Given the description of an element on the screen output the (x, y) to click on. 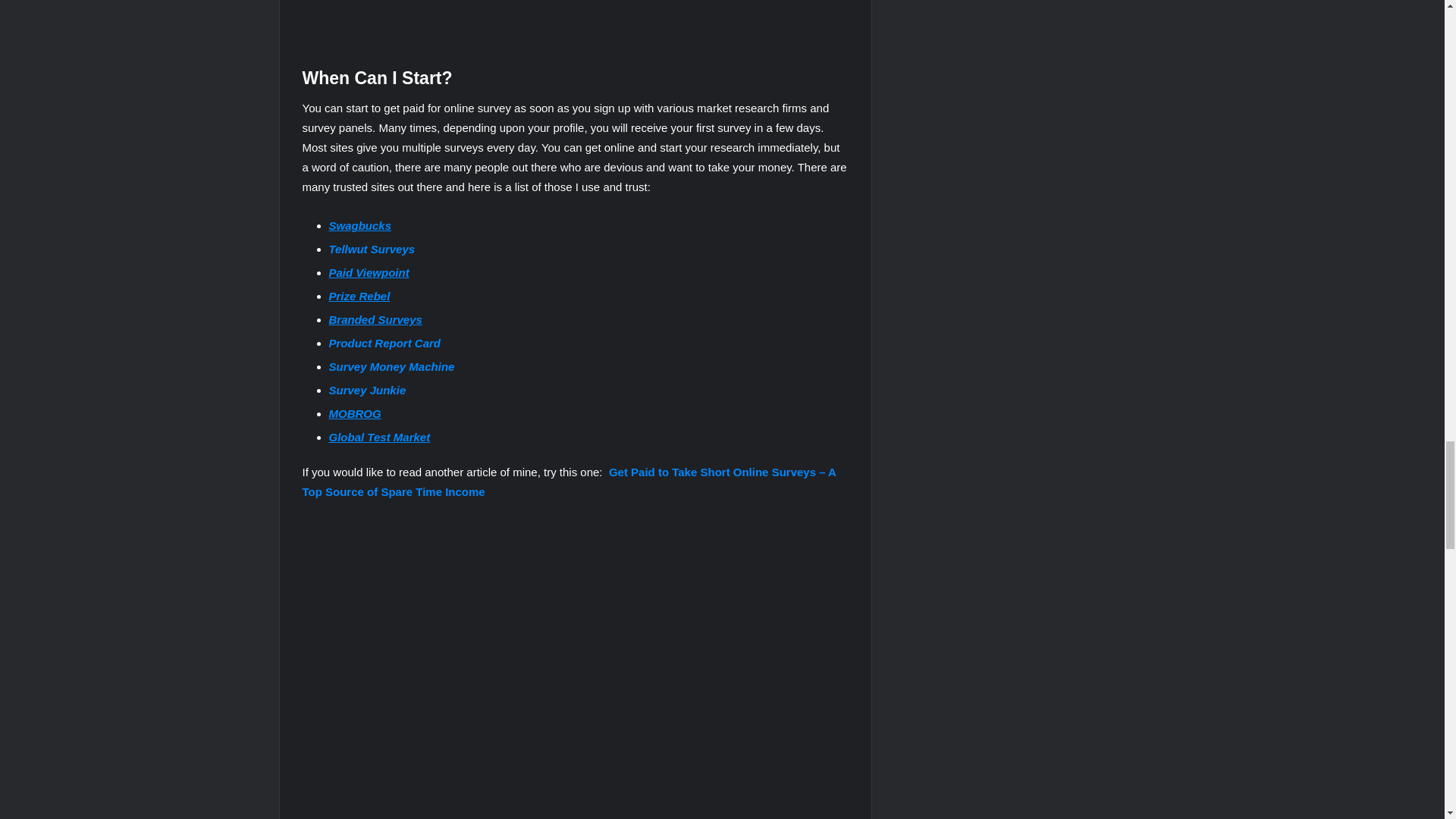
Swagbucks (360, 225)
MOBROG (355, 413)
Paid Viewpoint (369, 272)
Tellwut Surveys (371, 248)
Prize Rebel (359, 295)
Survey Junkie (367, 390)
Cultural globalization (529, 20)
Branded Surveys (375, 318)
Global Test Market (379, 436)
Product Report Card (385, 342)
